Given the description of an element on the screen output the (x, y) to click on. 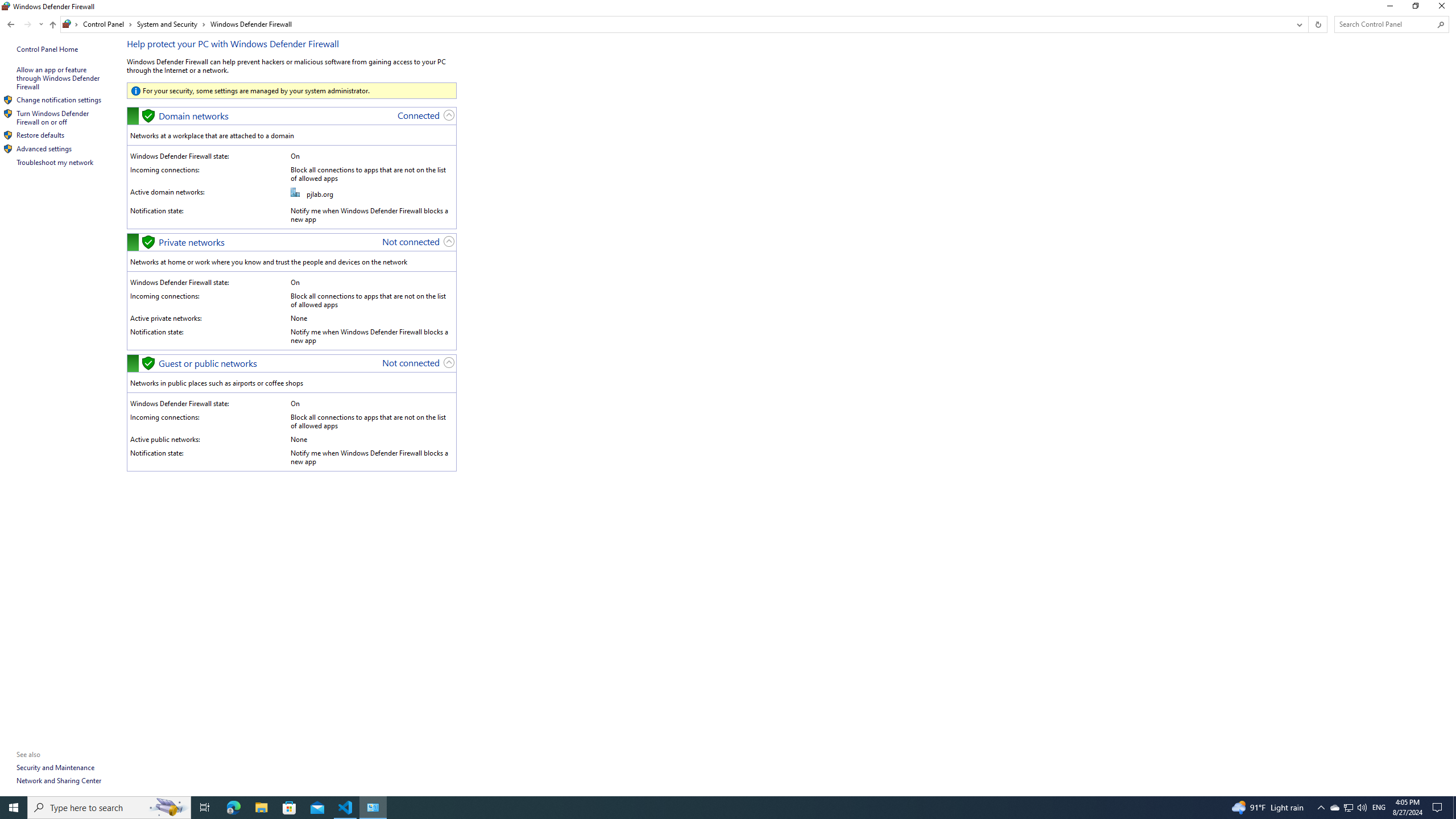
Back to Allowed apps (Alt + Left Arrow) (10, 23)
Windows Defender Firewall (251, 23)
Up band toolbar (52, 26)
Search Box (1386, 23)
Minimize (1347, 807)
Up to "System and Security" (Alt + Up Arrow) (1388, 8)
Connected (52, 24)
Restore (418, 114)
Allow an app or feature through Windows Defender Firewall (1415, 8)
File Explorer (58, 77)
Turn Windows Defender Firewall on or off (261, 807)
Q2790: 100% (53, 117)
Search highlights icon opens search home window (1361, 807)
